Given the description of an element on the screen output the (x, y) to click on. 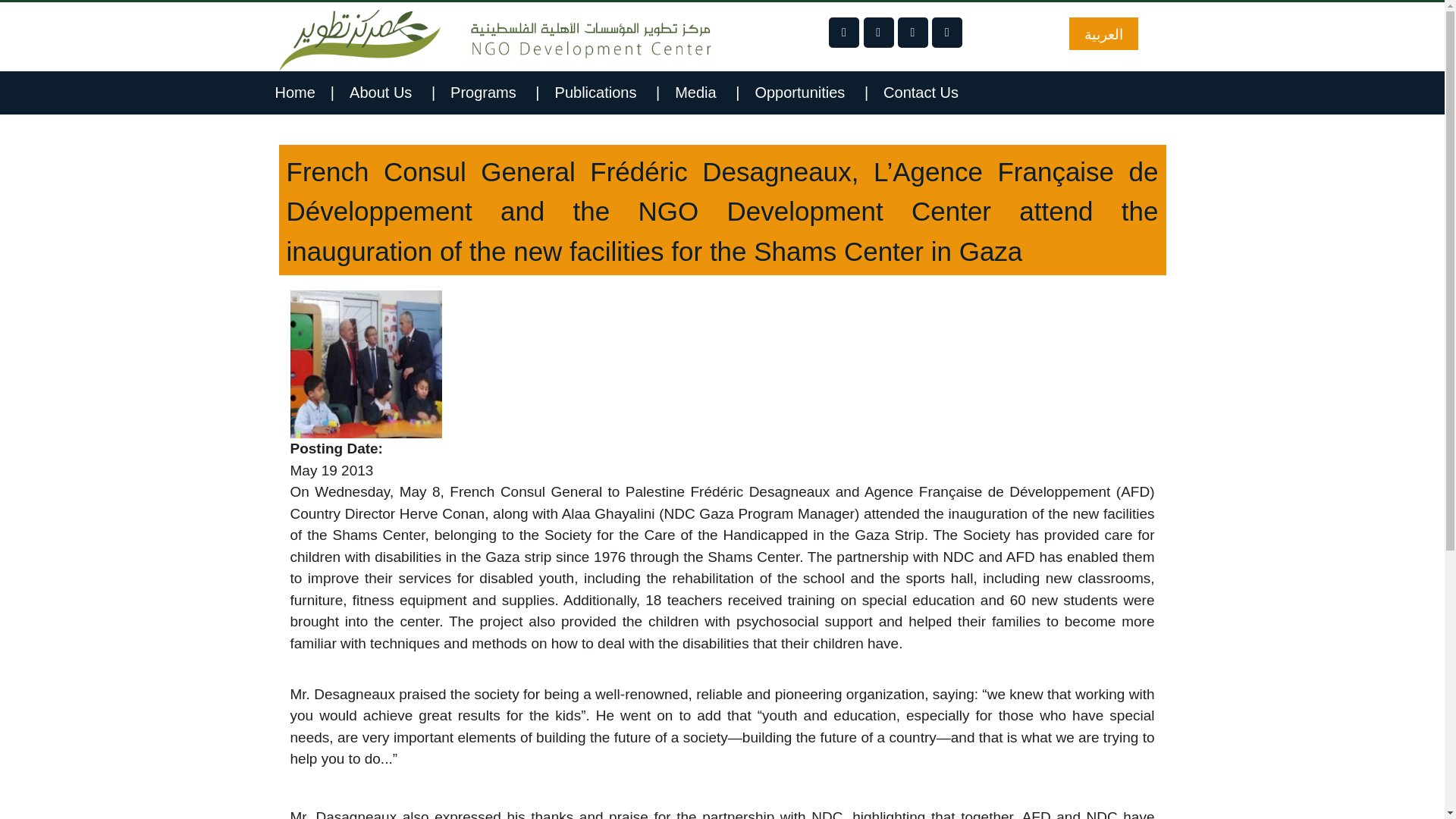
twitter (878, 32)
linkedin (913, 32)
Home (304, 92)
Media (706, 92)
About Us (392, 92)
Publications (607, 92)
Opportunities (811, 92)
Contact Us (928, 92)
youtube (946, 32)
Programs (494, 92)
Home (495, 38)
facebook (843, 32)
